Given the description of an element on the screen output the (x, y) to click on. 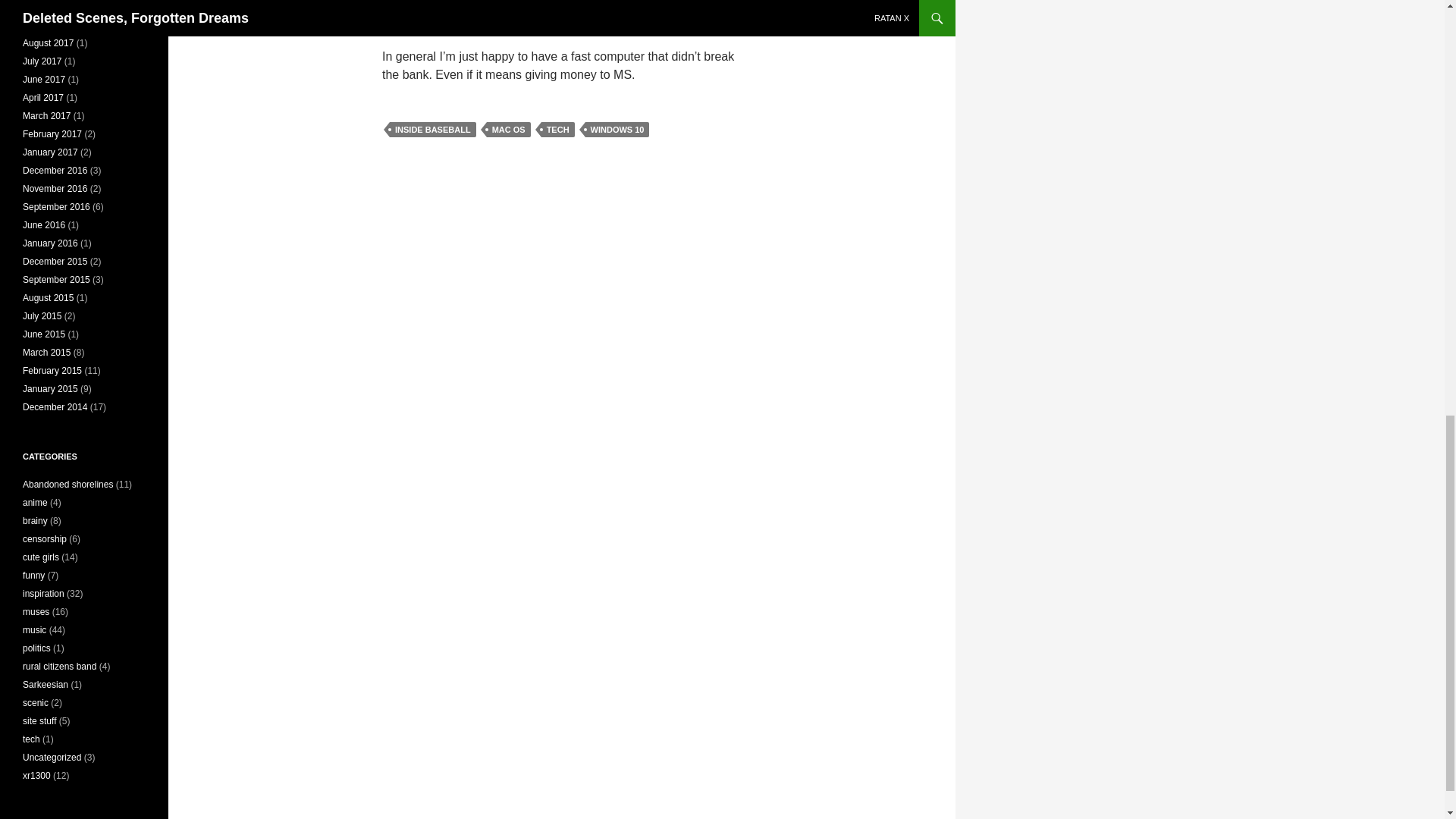
WINDOWS 10 (617, 129)
October 2017 (50, 24)
January 2019 (50, 6)
MAC OS (508, 129)
TECH (558, 129)
INSIDE BASEBALL (433, 129)
August 2017 (48, 42)
July 2017 (42, 61)
